Given the description of an element on the screen output the (x, y) to click on. 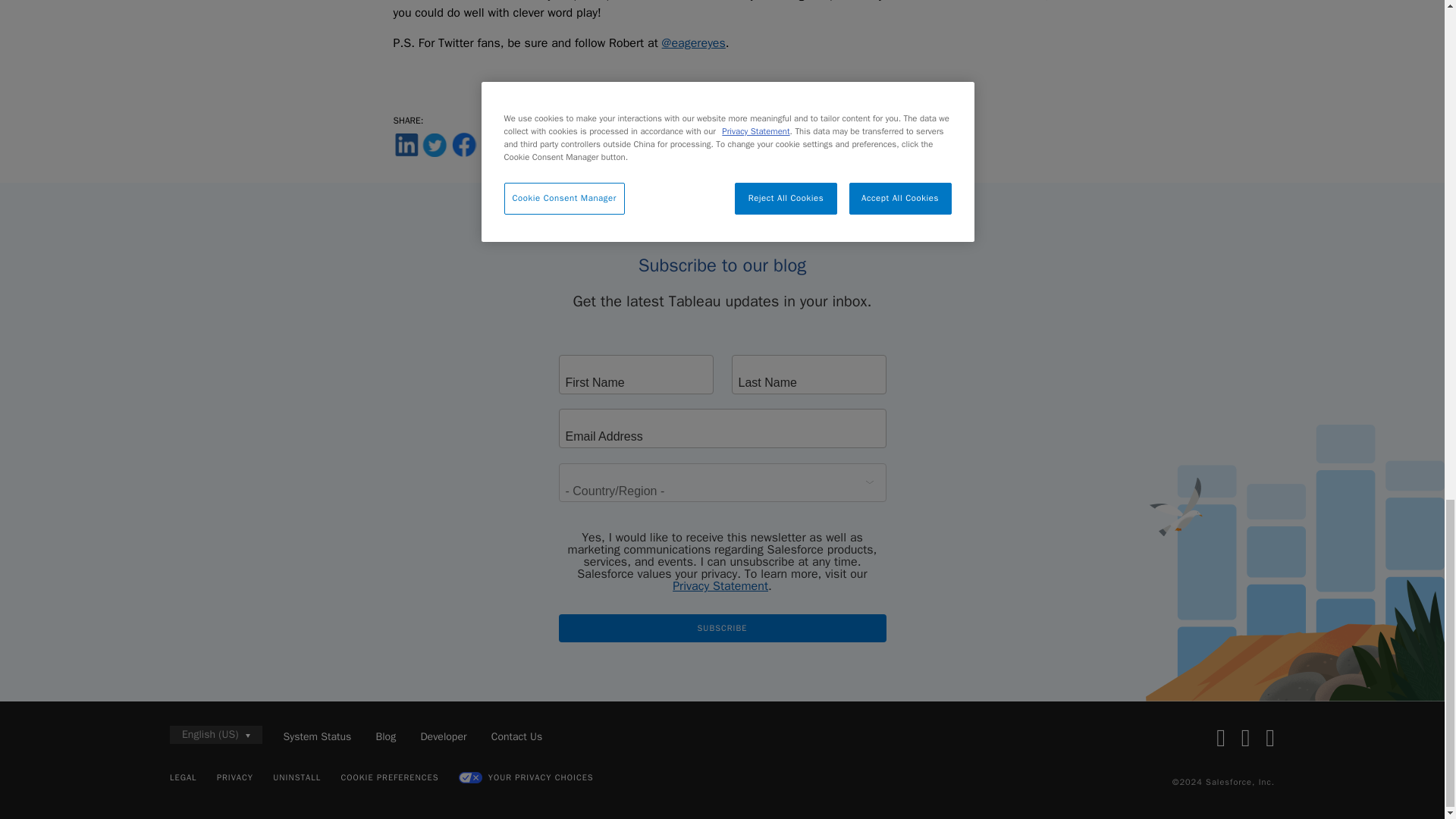
Subscribe (721, 628)
